Given the description of an element on the screen output the (x, y) to click on. 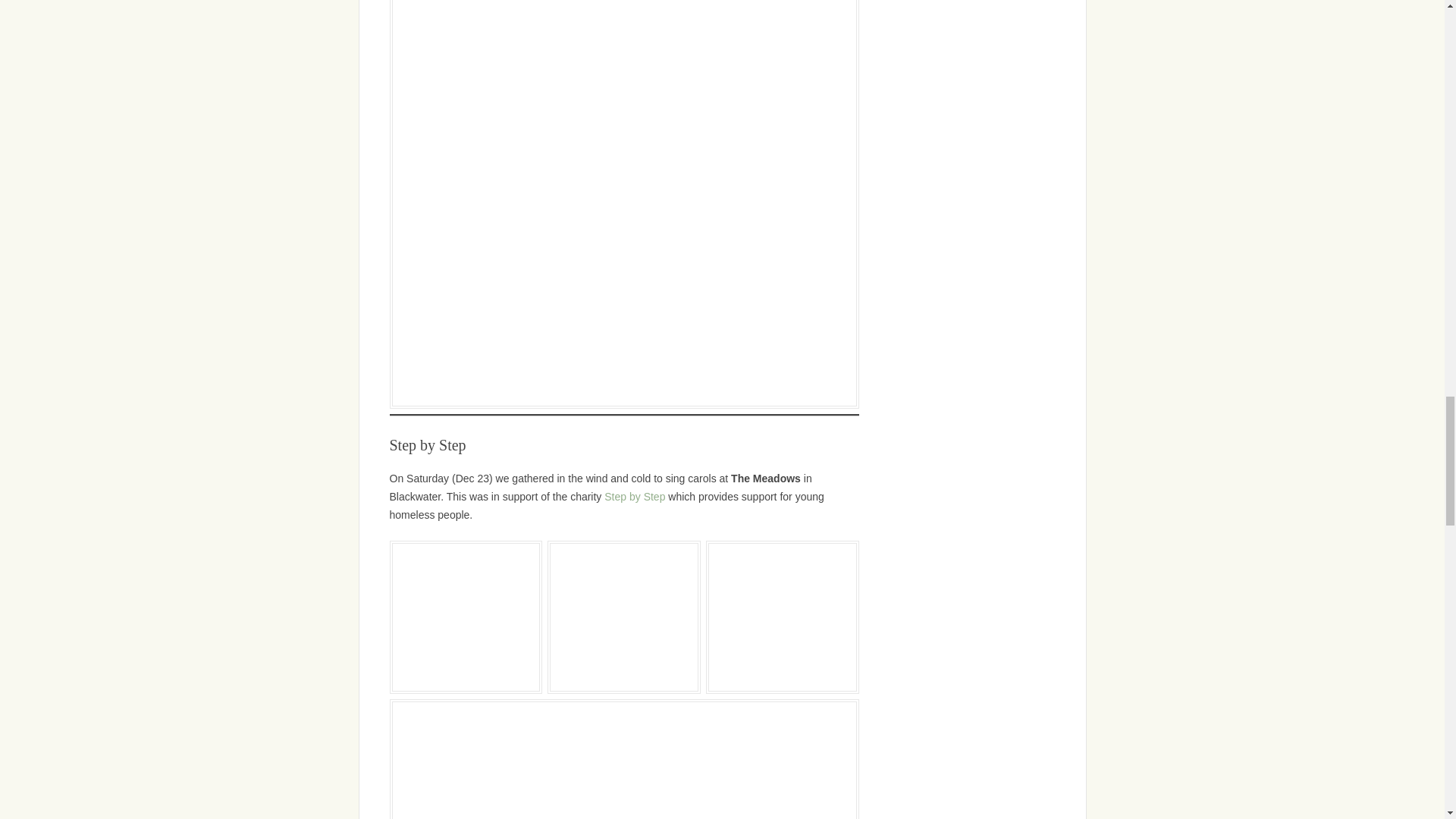
Step by Step (634, 496)
